Given the description of an element on the screen output the (x, y) to click on. 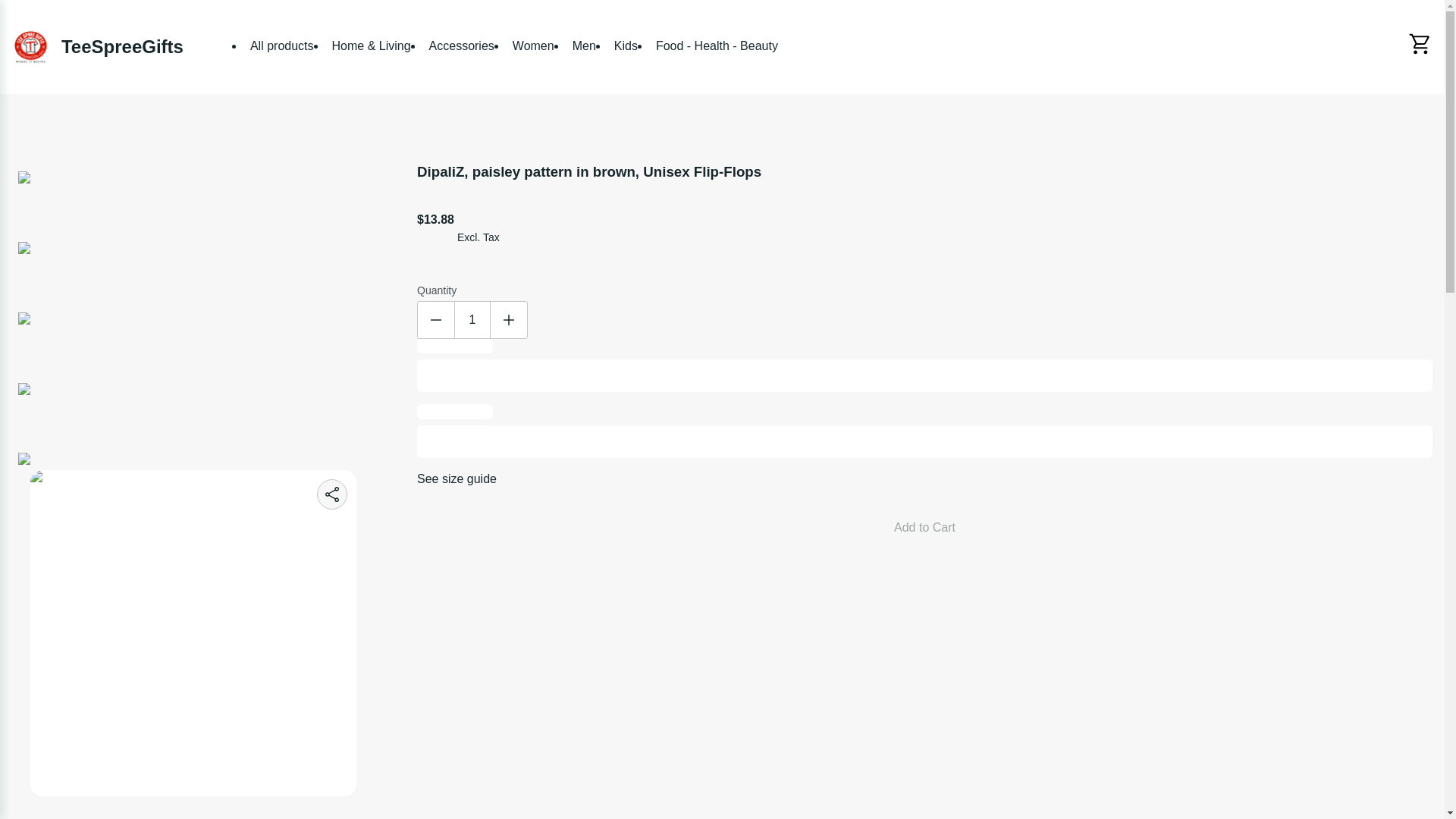
Add to Cart (924, 527)
Food - Health - Beauty (716, 45)
All products (282, 45)
Women (533, 45)
Men (584, 45)
TeeSpreeGifts (97, 46)
Kids (625, 45)
See size guide (456, 478)
Accessories (461, 45)
About product (721, 807)
